Given the description of an element on the screen output the (x, y) to click on. 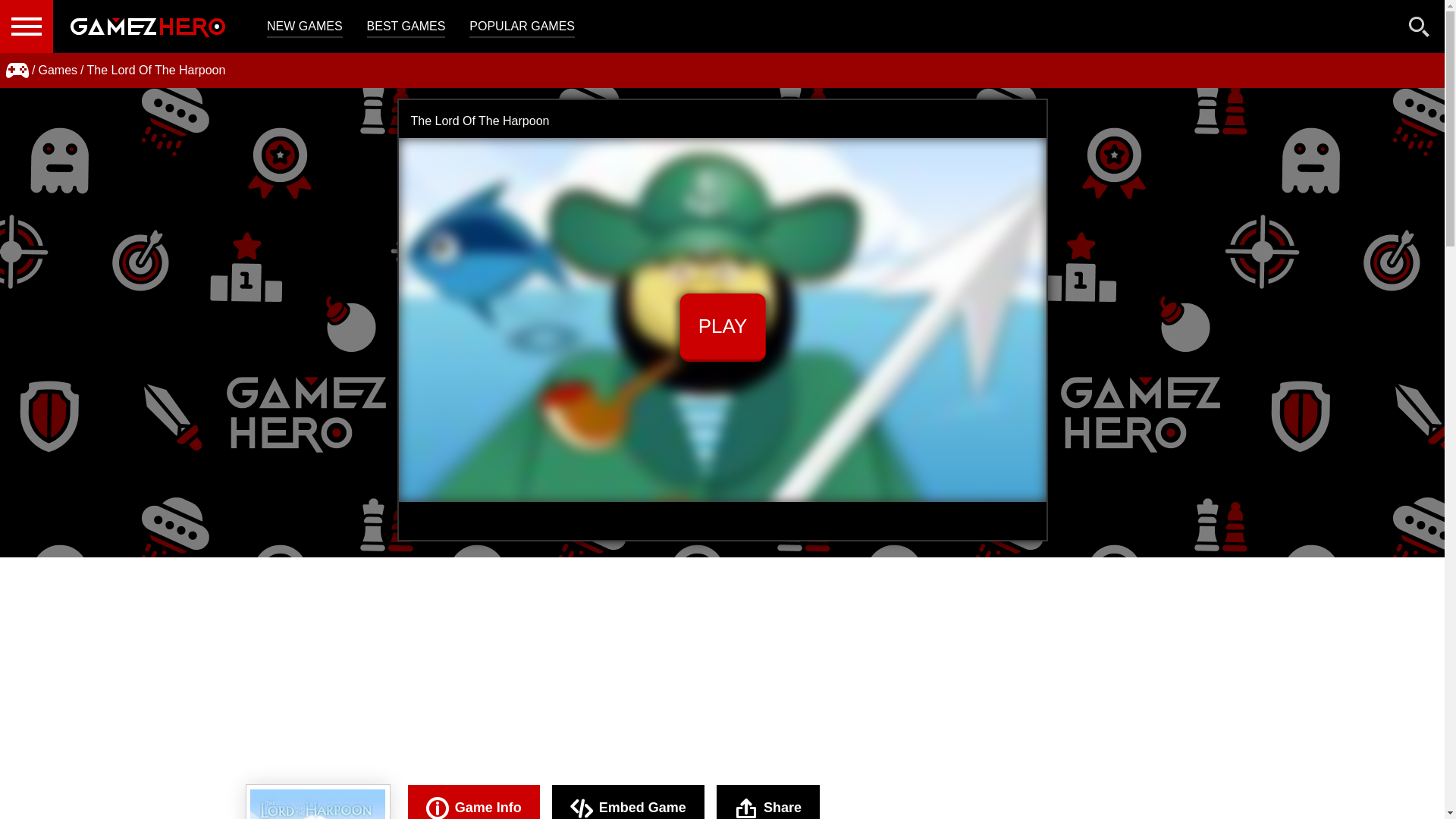
Gamezhero.com - Free Online Games. Play Free Games Online. (147, 26)
POPULAR GAMES (521, 27)
New Games (304, 27)
Gamezhero.com - Free Online Games. Play Free Games Online. (147, 26)
BEST GAMES (405, 27)
Best Games (405, 27)
NEW GAMES (304, 27)
Popular Games (521, 27)
